Given the description of an element on the screen output the (x, y) to click on. 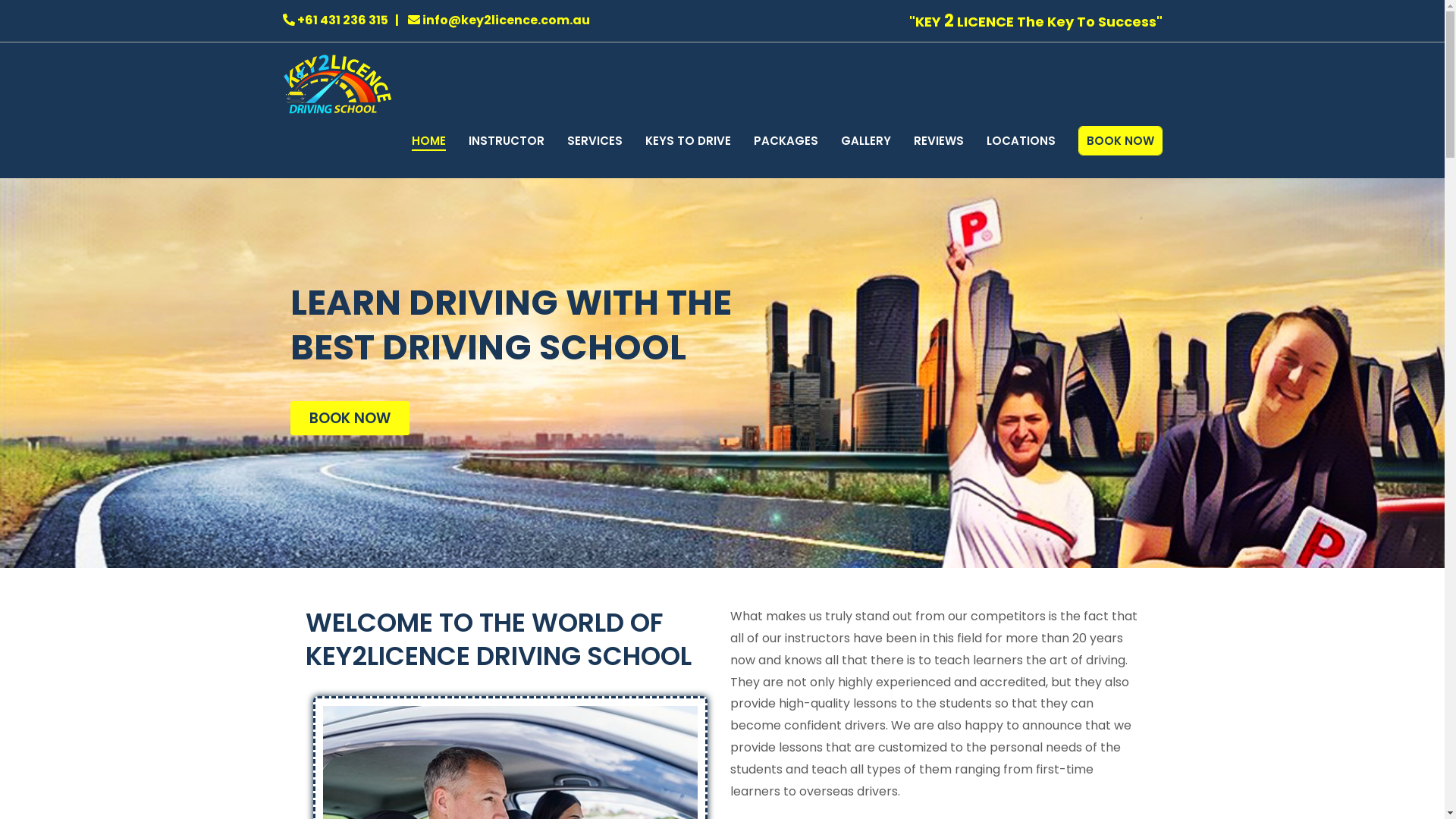
+61 431 236 315 Element type: text (334, 19)
SERVICES Element type: text (594, 140)
INSTRUCTOR Element type: text (506, 140)
GALLERY Element type: text (865, 140)
PACKAGES Element type: text (785, 140)
REVIEWS Element type: text (938, 140)
info@key2licence.com.au Element type: text (498, 19)
BOOK NOW Element type: text (348, 418)
HOME Element type: text (428, 140)
LOCATIONS Element type: text (1019, 140)
BOOK NOW Element type: text (1119, 140)
KEYS TO DRIVE Element type: text (687, 140)
Key2licence Driving School Element type: text (494, 94)
